Given the description of an element on the screen output the (x, y) to click on. 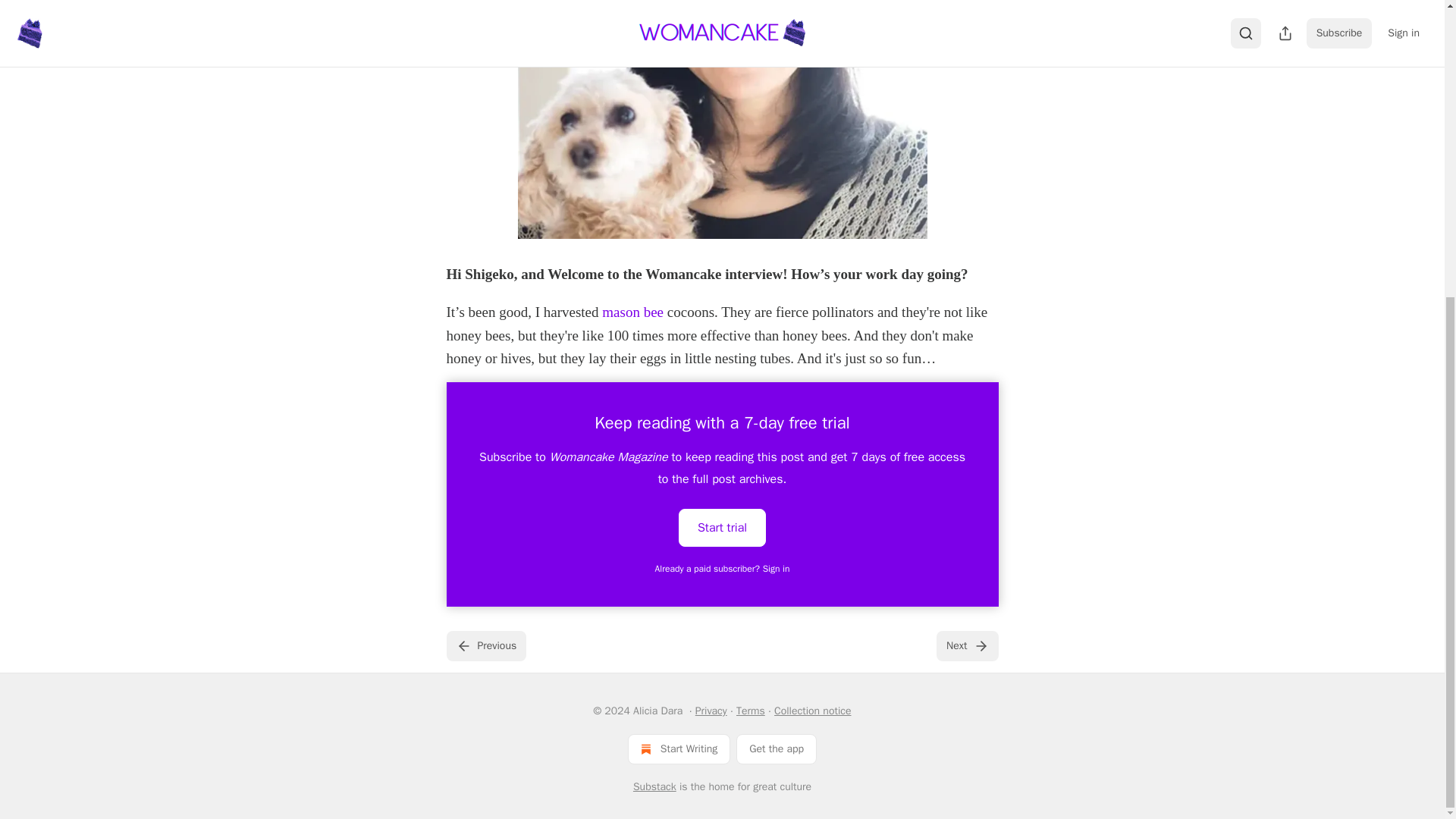
Start Writing (678, 748)
Privacy (710, 710)
Get the app (776, 748)
Collection notice (812, 710)
Previous (485, 645)
Next (966, 645)
Start trial (721, 526)
mason bee (632, 311)
Substack (655, 786)
Terms (750, 710)
Start trial (721, 527)
Already a paid subscriber? Sign in (722, 568)
